Given the description of an element on the screen output the (x, y) to click on. 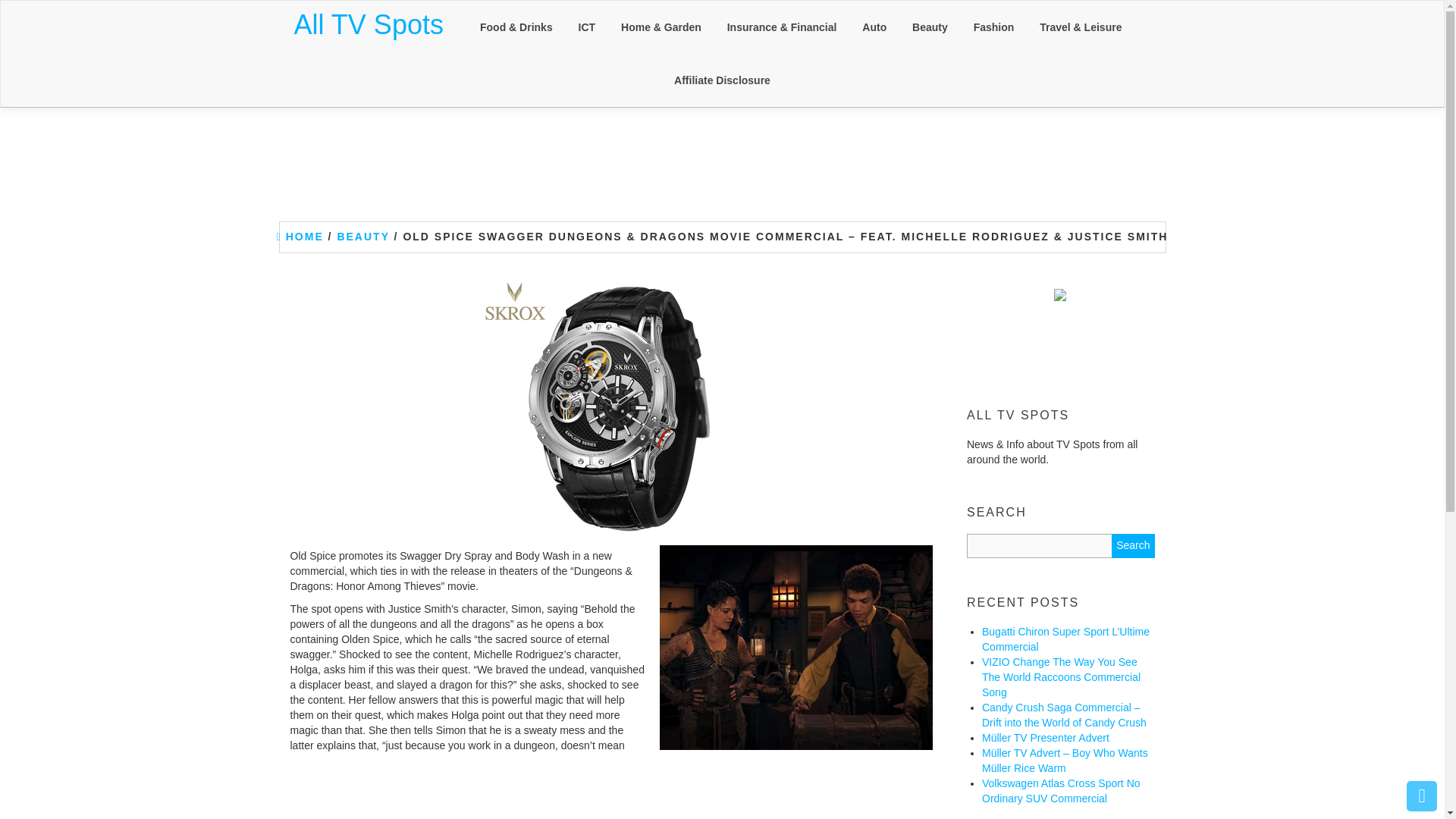
Volkswagen Atlas Cross Sport No Ordinary SUV Commercial (1060, 790)
HOME (299, 236)
Fashion (994, 27)
Fashion (994, 27)
Affiliate Disclosure (721, 80)
Affiliate Disclosure (721, 80)
Search (1133, 545)
Beauty (930, 27)
All TV Spots (369, 24)
All TV Spots (369, 24)
Search (1133, 545)
BEAUTY (362, 236)
Beauty (930, 27)
